Given the description of an element on the screen output the (x, y) to click on. 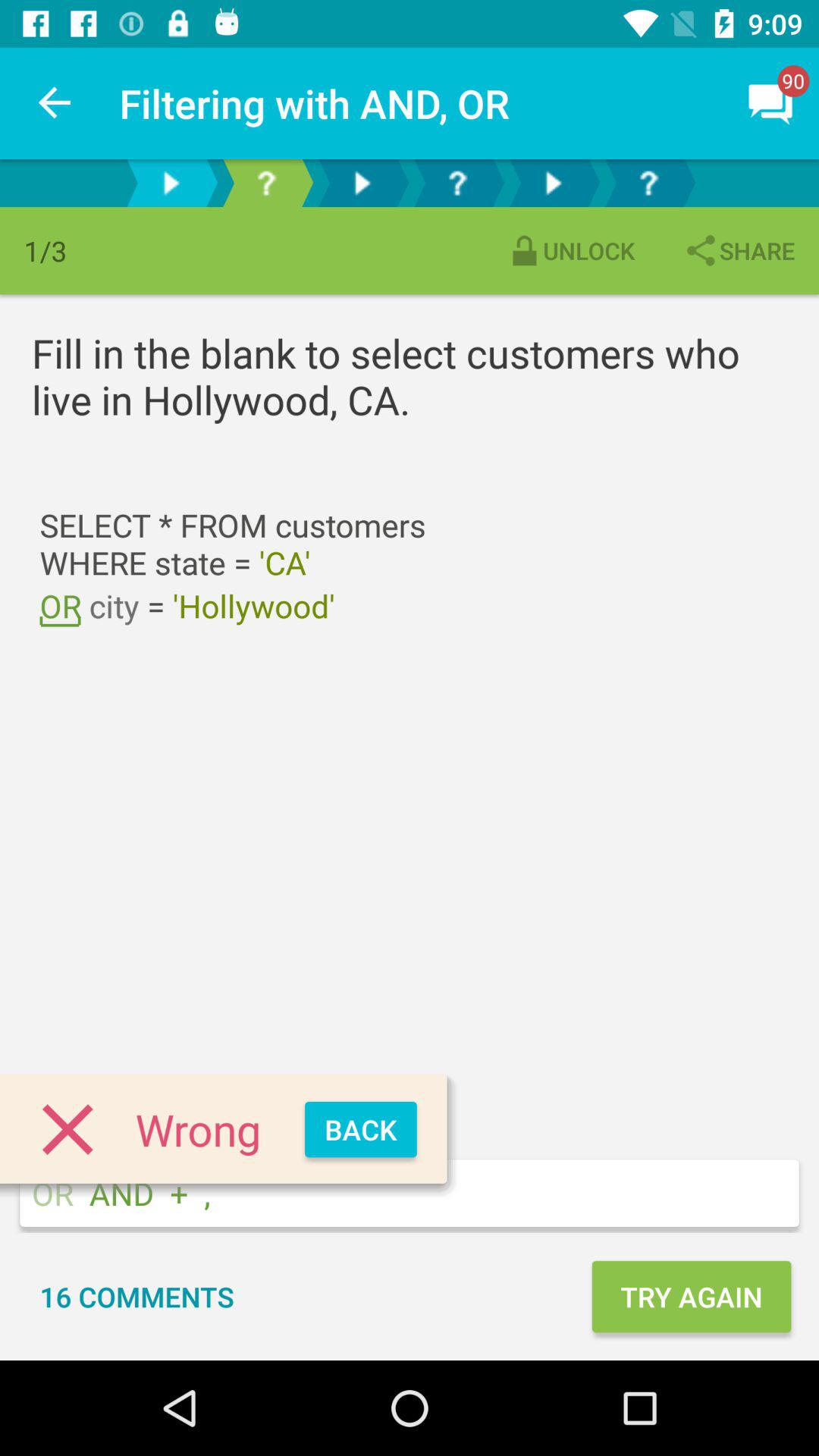
go forward (552, 183)
